Given the description of an element on the screen output the (x, y) to click on. 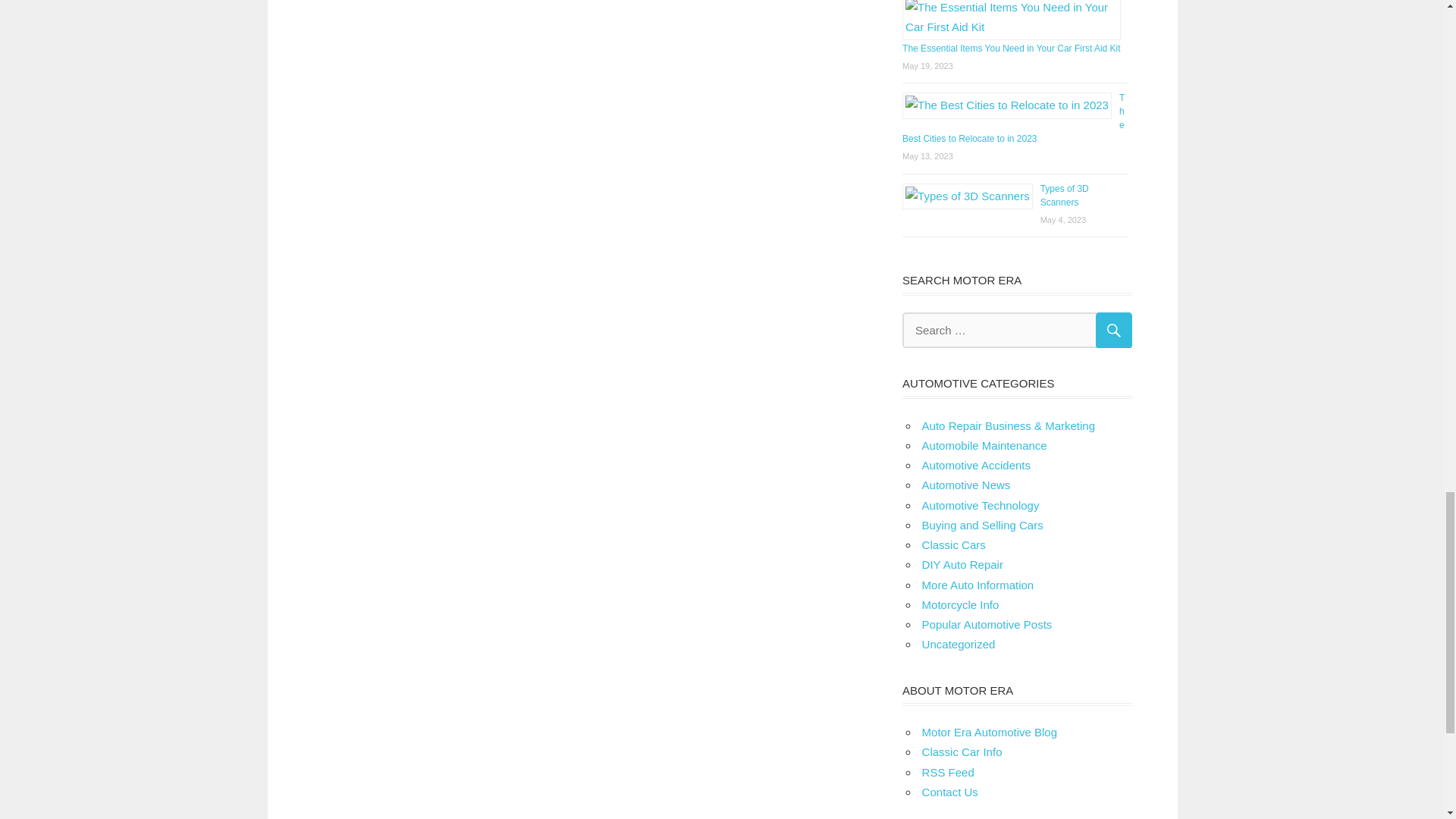
Permalink to Types of 3D Scanners (1065, 195)
Search for: (1016, 330)
Permalink to The Best Cities to Relocate to in 2023 (1013, 118)
